Given the description of an element on the screen output the (x, y) to click on. 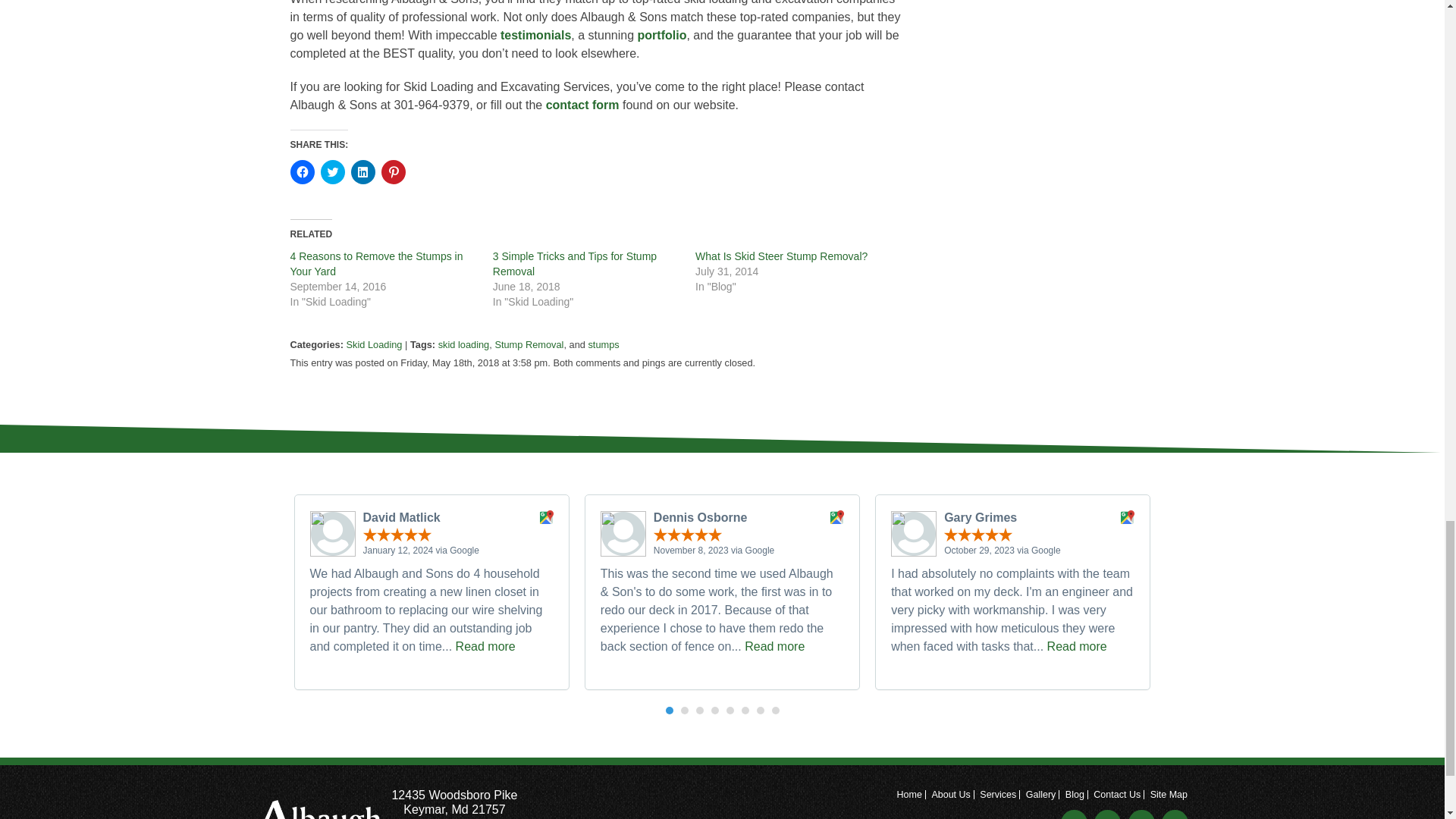
Click to share on Pinterest (392, 171)
Click to share on Twitter (331, 171)
What Is Skid Steer Stump Removal? (781, 256)
3 Simple Tricks and Tips for Stump Removal (574, 263)
4 Reasons to Remove the Stumps in Your Yard (376, 263)
Click to share on Facebook (301, 171)
Click to share on LinkedIn (362, 171)
